Given the description of an element on the screen output the (x, y) to click on. 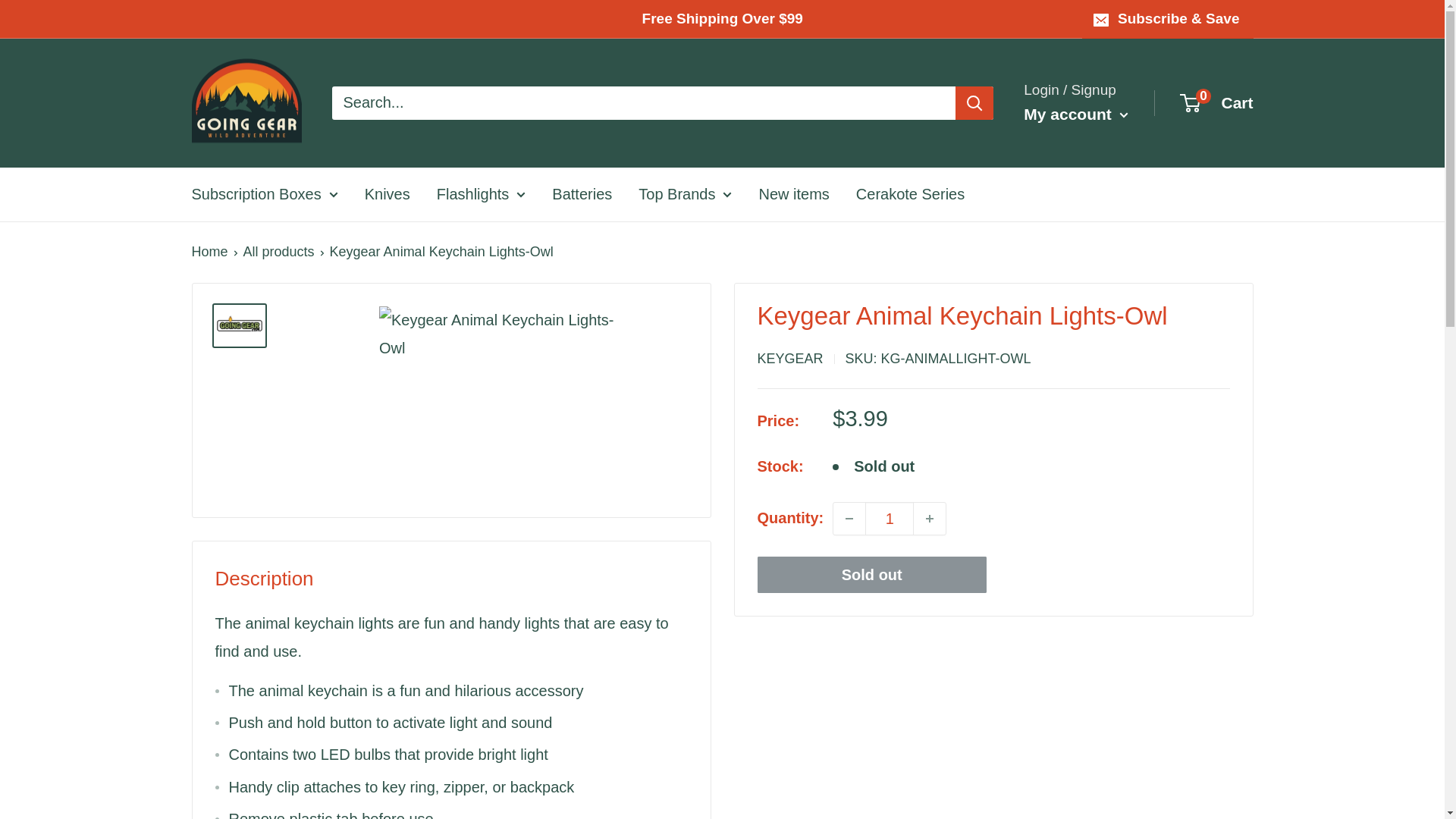
Increase quantity by 1 (929, 518)
Decrease quantity by 1 (848, 518)
1 (889, 518)
